Given the description of an element on the screen output the (x, y) to click on. 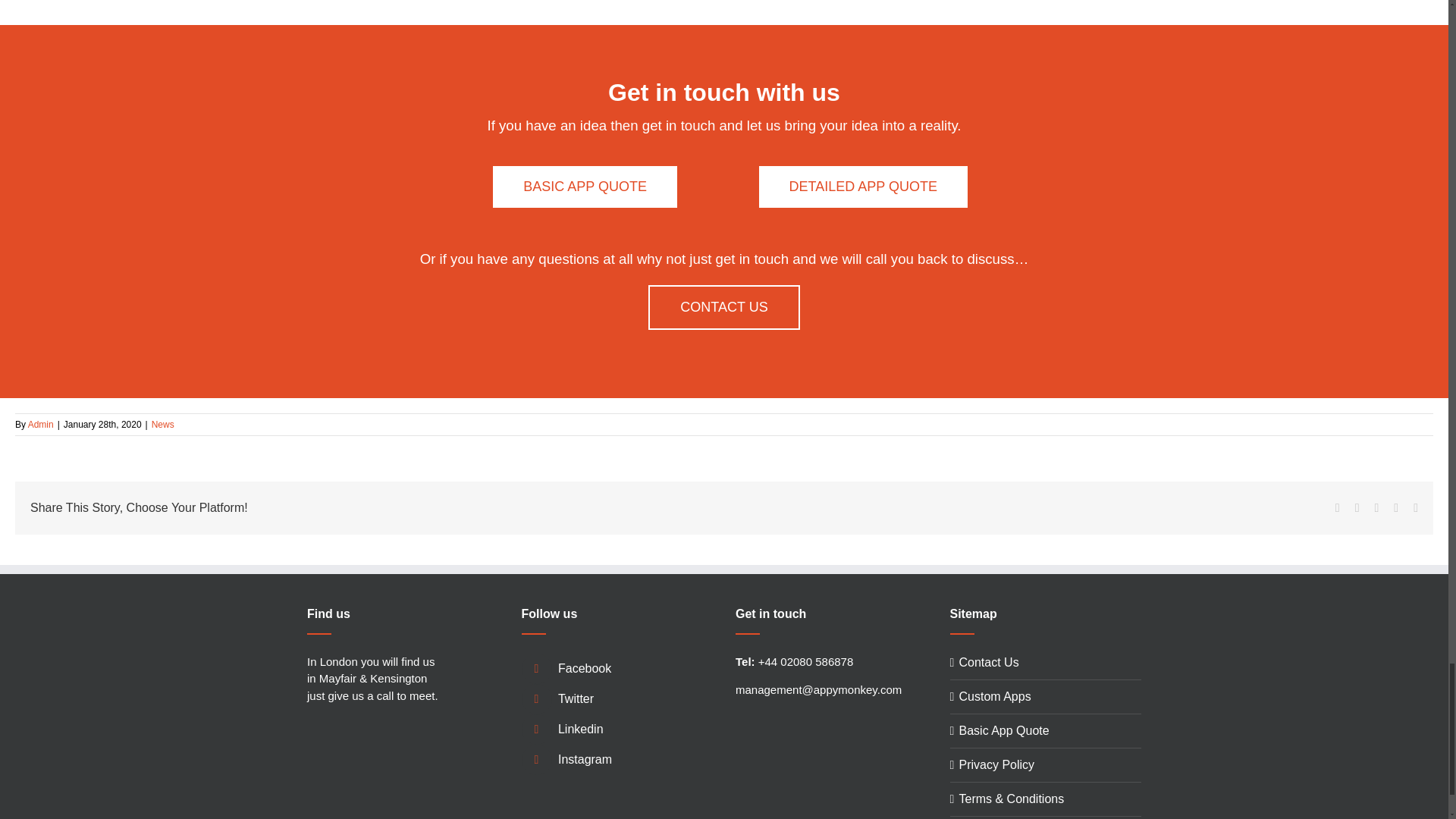
CONTACT US (723, 307)
Detailed App Quote (863, 186)
Basic App Quote (585, 186)
Posts by Admin (40, 424)
BASIC APP QUOTE (585, 186)
DETAILED APP QUOTE (863, 186)
